Given the description of an element on the screen output the (x, y) to click on. 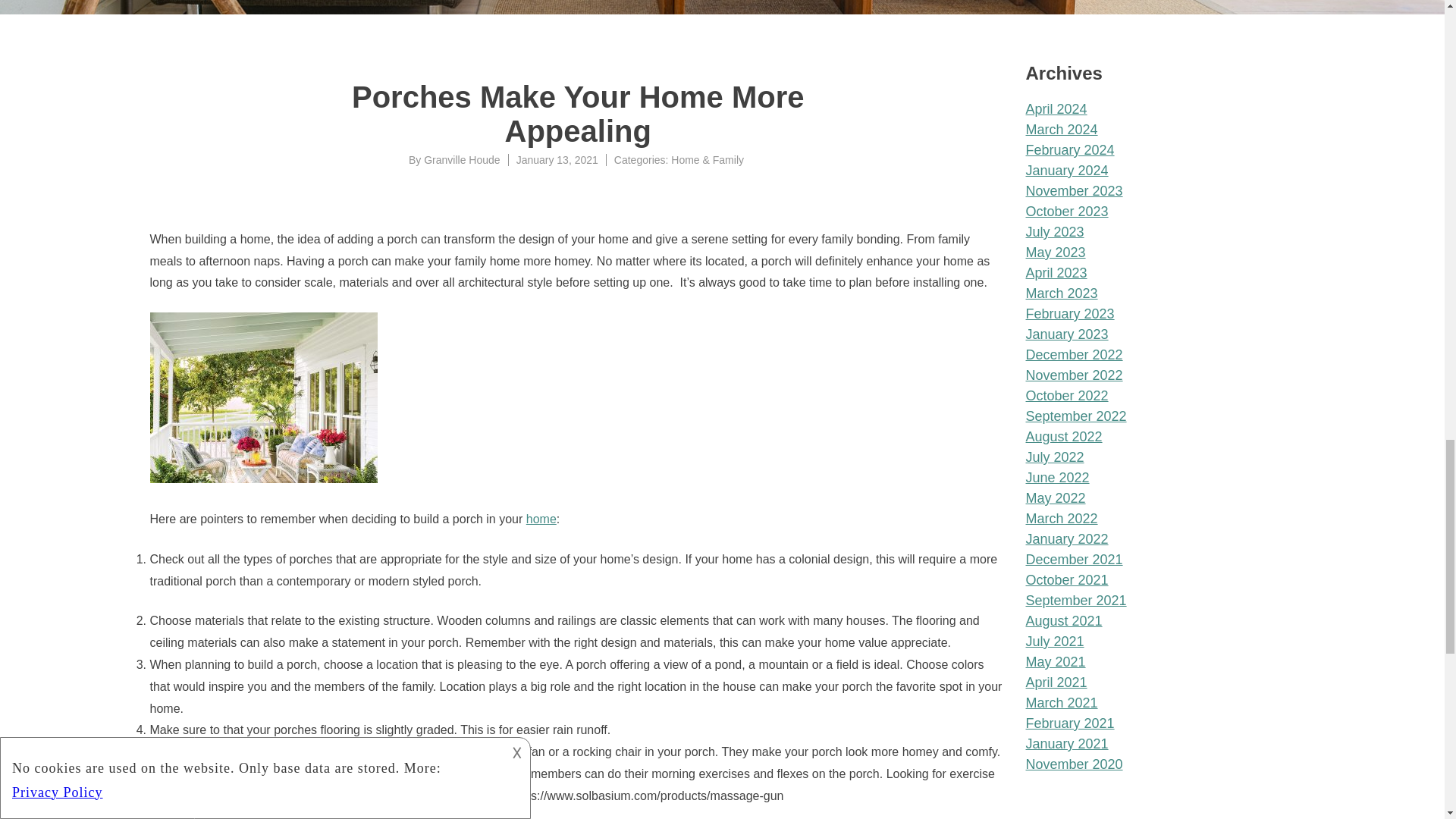
November 2022 (1073, 375)
April 2023 (1055, 272)
September 2022 (1075, 416)
May 2023 (1054, 252)
March 2023 (1061, 293)
February 2023 (1069, 313)
December 2022 (1073, 354)
November 2023 (1073, 191)
July 2023 (1054, 231)
Granville Houde (461, 159)
April 2024 (1055, 109)
January 2023 (1066, 334)
home (540, 518)
February 2024 (1069, 150)
August 2022 (1063, 436)
